Given the description of an element on the screen output the (x, y) to click on. 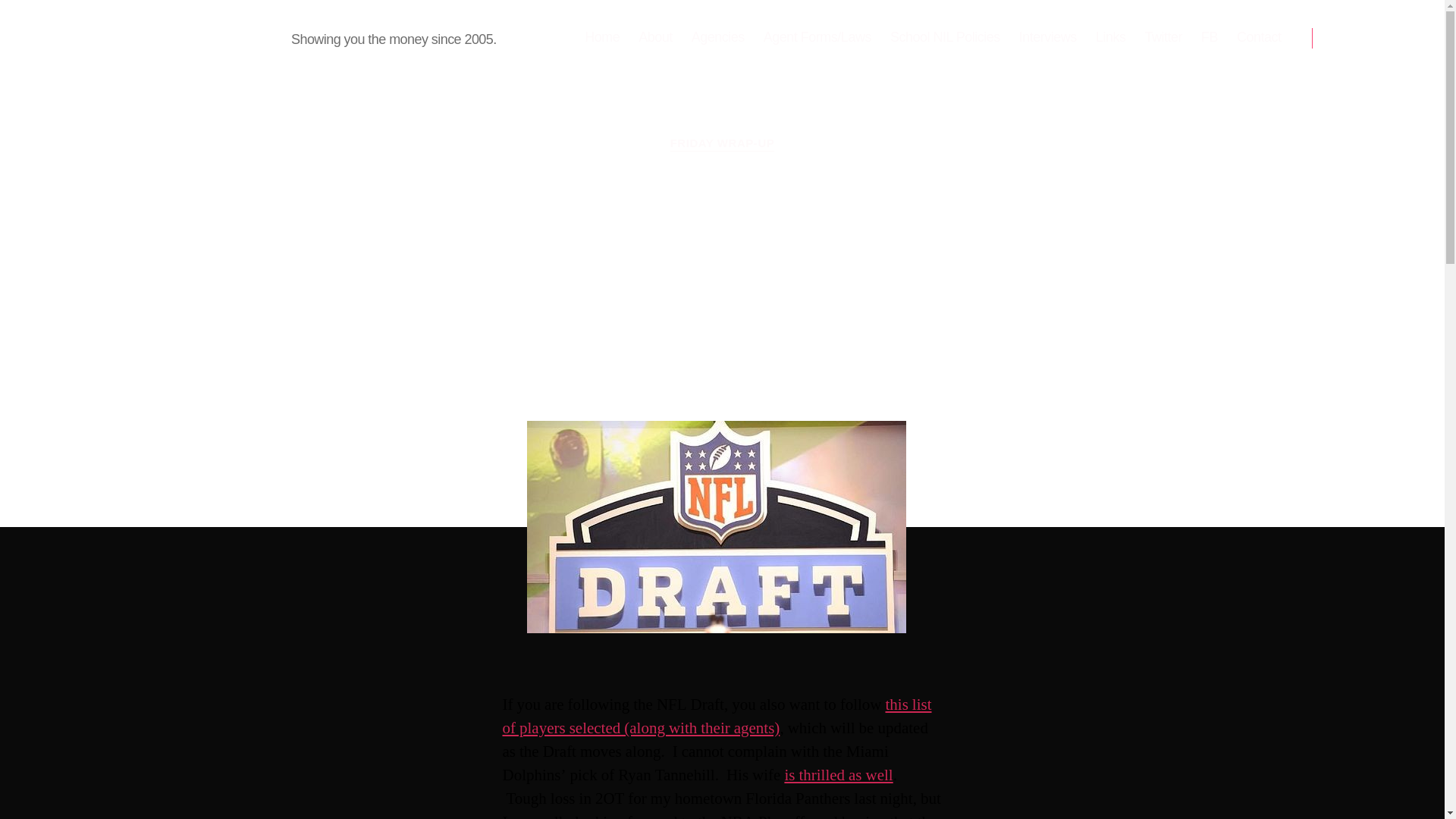
School NIL Policies (944, 37)
Home (602, 37)
About (655, 37)
FRIDAY WRAP-UP (721, 143)
Agencies (717, 37)
Contact (1258, 37)
SPORTS AGENT BLOG (178, 37)
Darren Heitner (682, 350)
Interviews (1048, 37)
Links (1110, 37)
Twitter (1163, 37)
Search (1350, 37)
FB (1209, 37)
April 27, 2012 (799, 350)
is thrilled as well (838, 774)
